Given the description of an element on the screen output the (x, y) to click on. 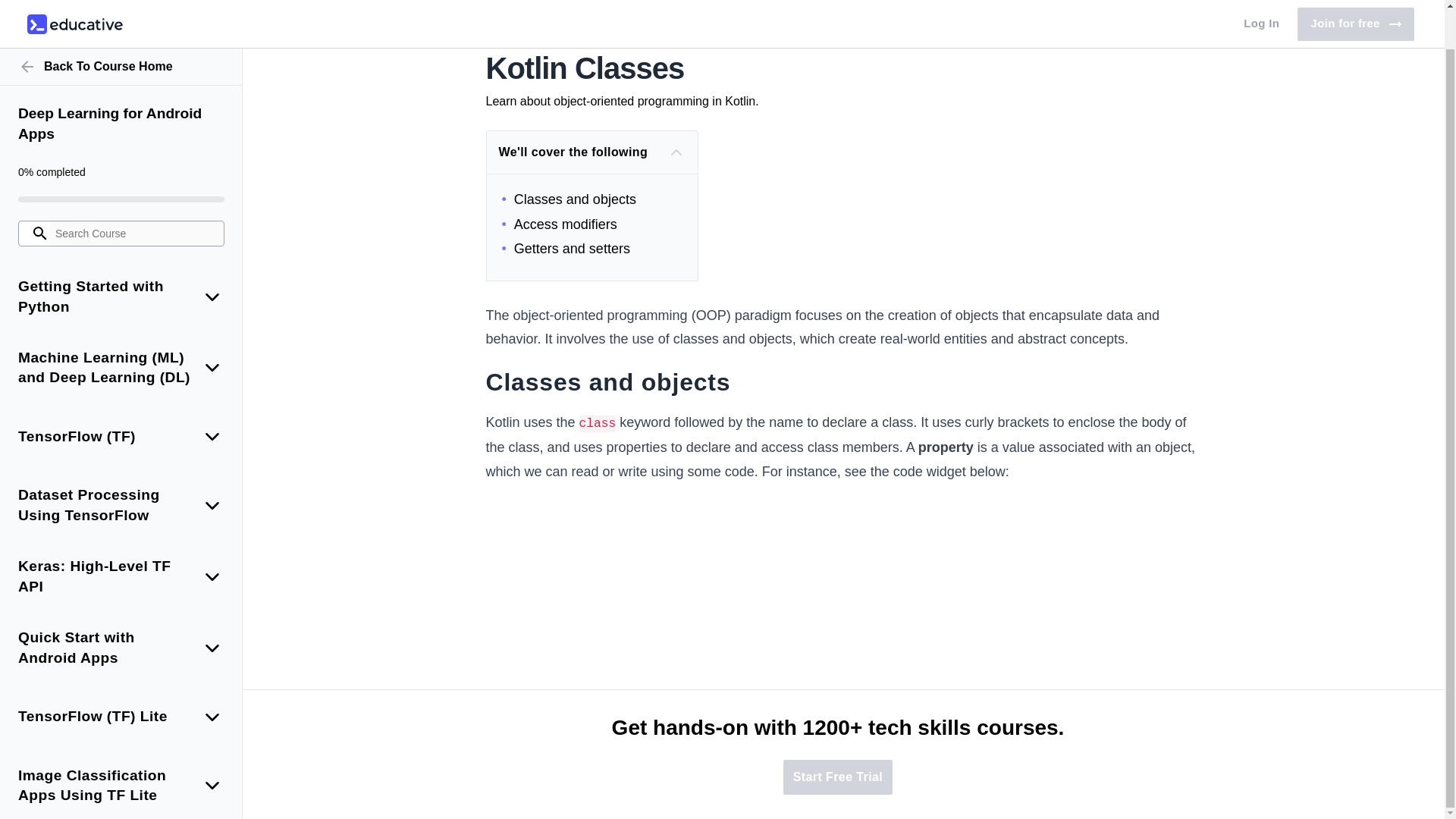
Deep Learning for Android Apps (121, 83)
Back To Course Home (121, 25)
Log In (1261, 3)
